Given the description of an element on the screen output the (x, y) to click on. 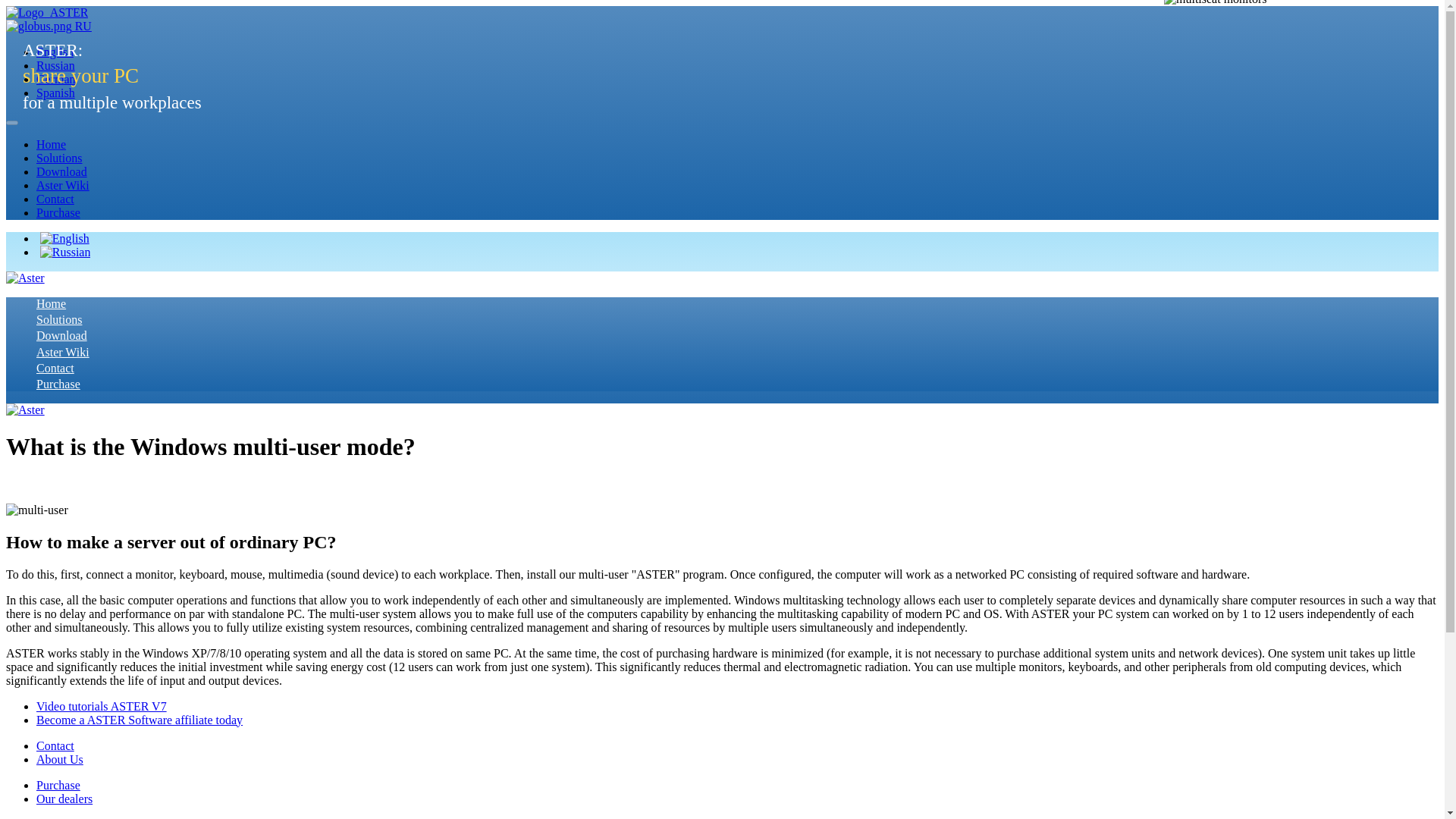
Aster Wiki (62, 185)
English (55, 51)
RU (48, 25)
Video tutorials ASTER V7 (101, 706)
Purchase (58, 383)
Solutions (58, 318)
German (55, 78)
Download (61, 335)
Purchase (58, 212)
Download (61, 171)
ru (38, 26)
Home (50, 303)
Contact (55, 198)
Spanish (55, 92)
